Given the description of an element on the screen output the (x, y) to click on. 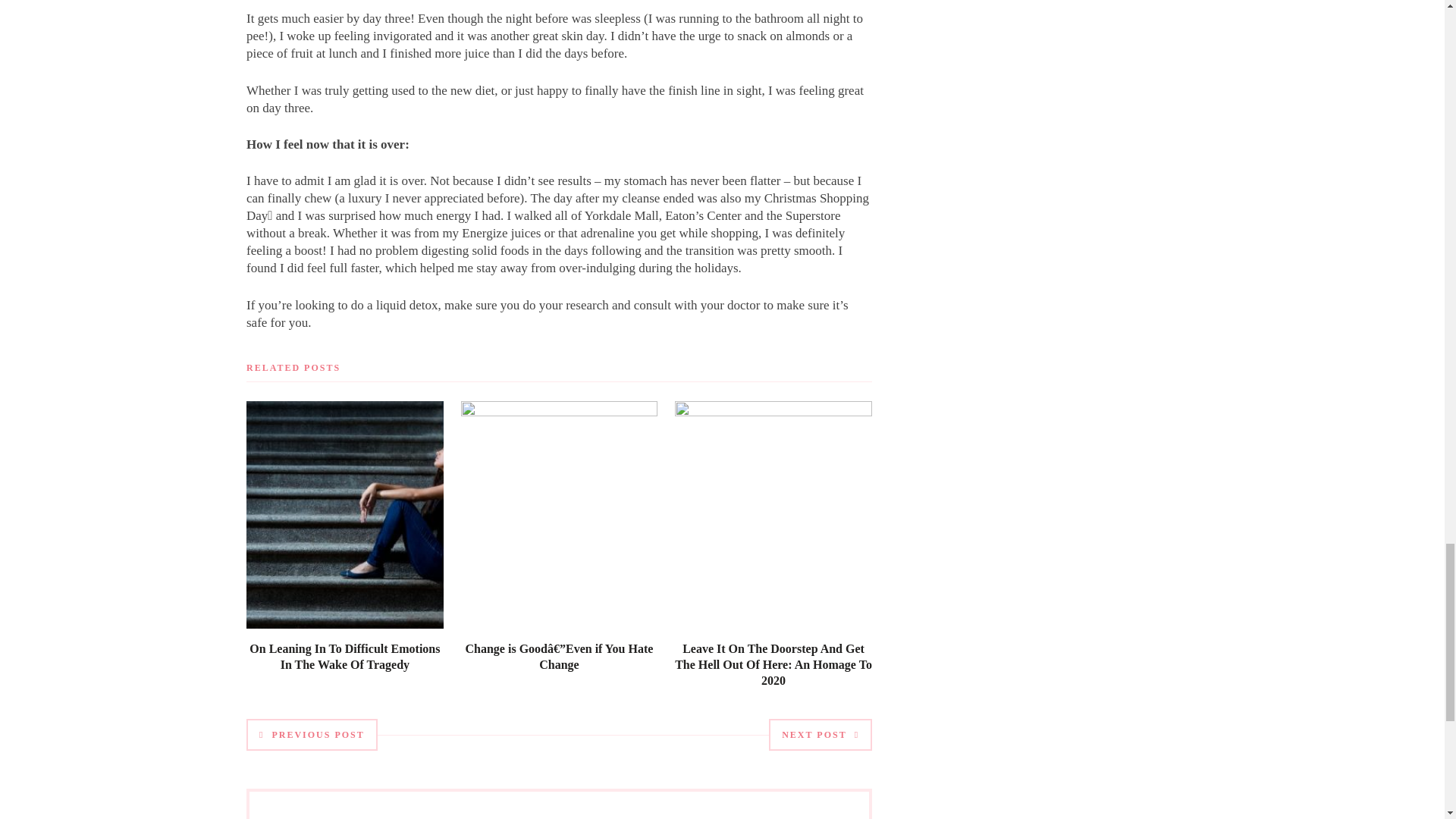
5 Things to See and Do in Mesa and Phoenix, Arizona (557, 588)
